Given the description of an element on the screen output the (x, y) to click on. 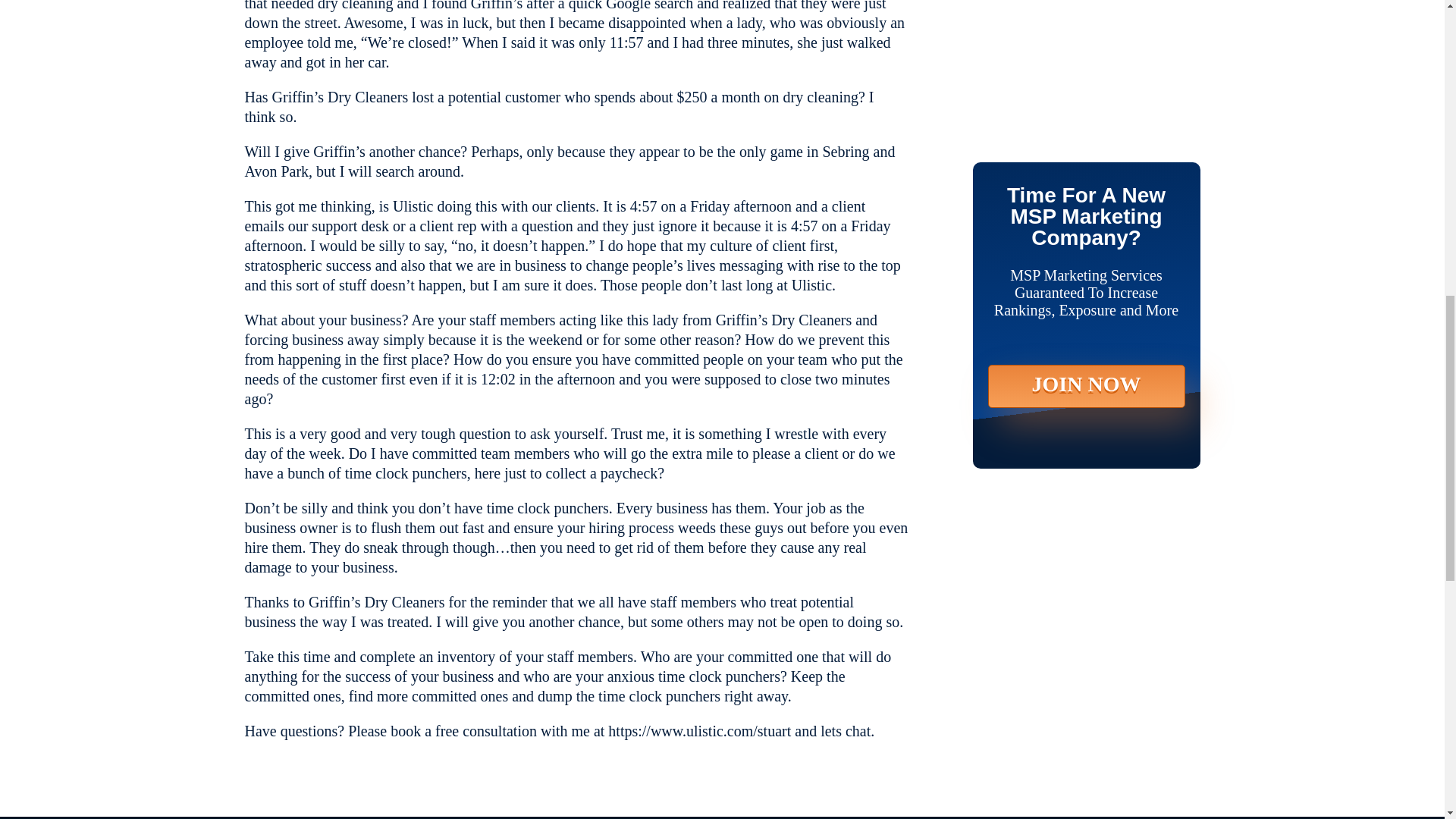
JOIN NOW (1086, 68)
